Given the description of an element on the screen output the (x, y) to click on. 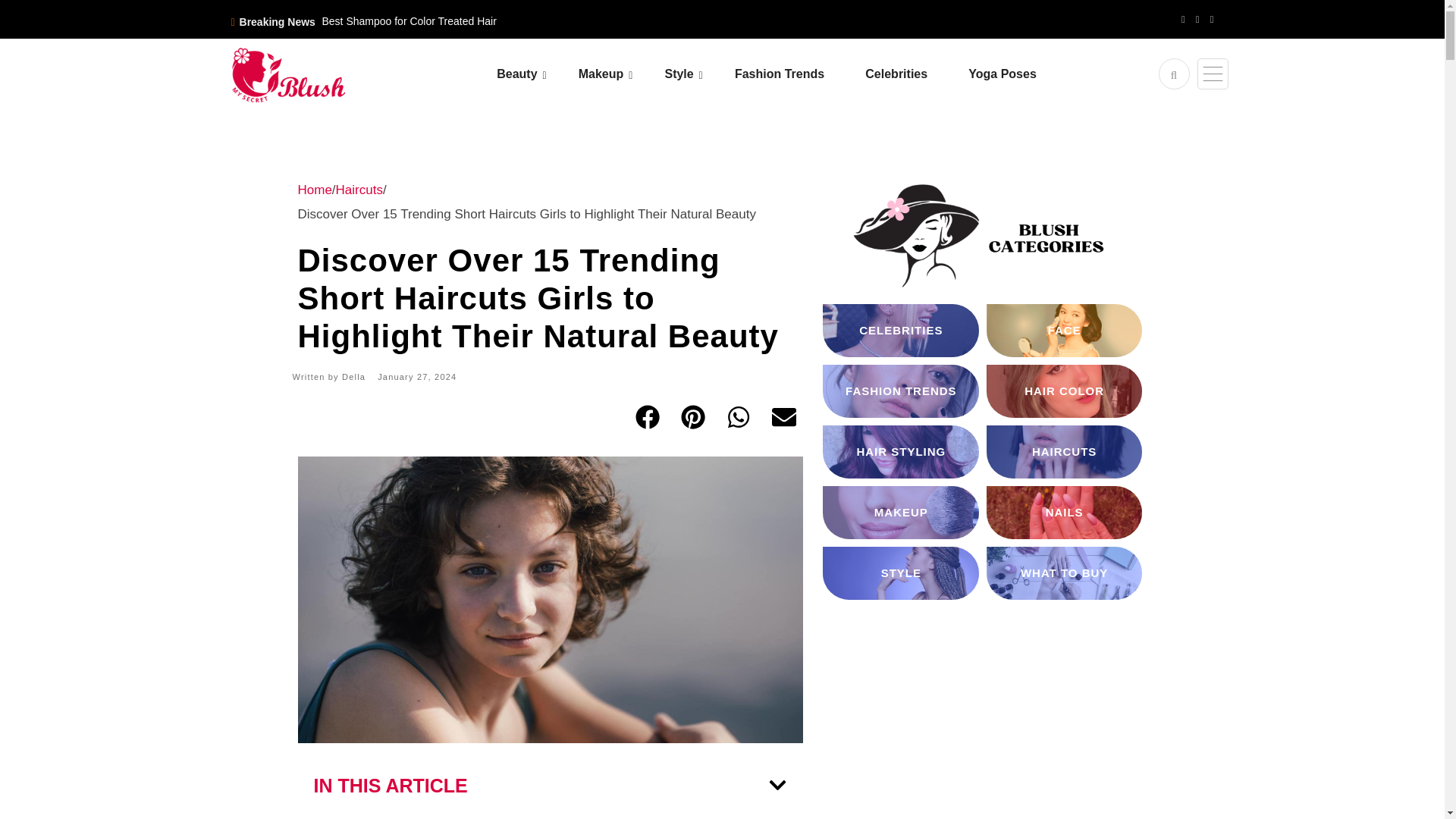
Eyes (673, 116)
Makeup (620, 73)
Beauty (535, 73)
Skin (590, 116)
Style (696, 73)
Piercing (758, 116)
Best Shampoo for Color Treated Hair (408, 20)
